Given the description of an element on the screen output the (x, y) to click on. 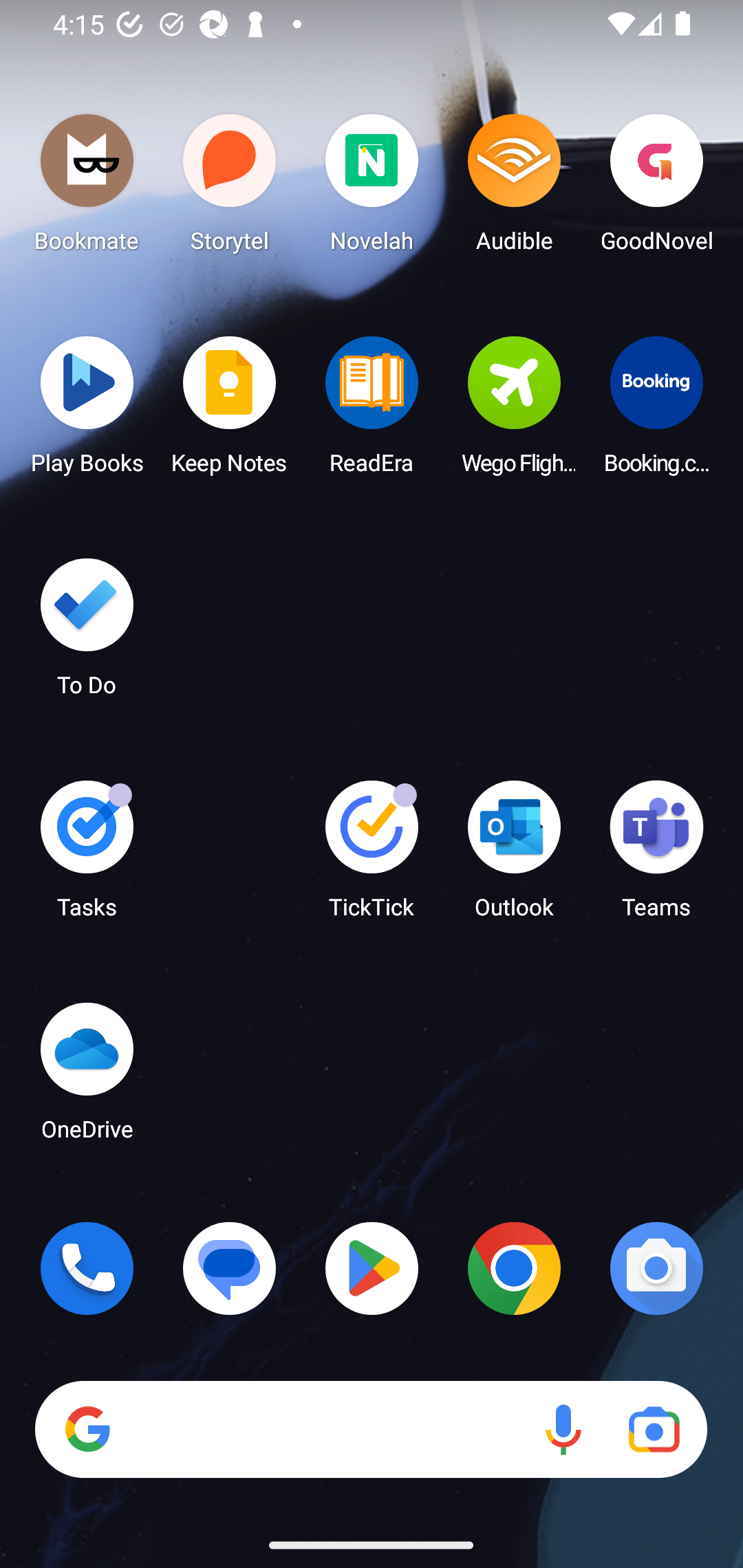
Bookmate (86, 188)
Storytel (229, 188)
Novelah (371, 188)
Audible (513, 188)
GoodNovel (656, 188)
Play Books (86, 410)
Keep Notes (229, 410)
ReadEra (371, 410)
Wego Flights & Hotels (513, 410)
Booking.com (656, 410)
To Do (86, 633)
Tasks Tasks has 1 notification (86, 854)
TickTick TickTick has 3 notifications (371, 854)
Outlook (513, 854)
Teams (656, 854)
OneDrive (86, 1076)
Phone (86, 1268)
Messages (229, 1268)
Play Store (371, 1268)
Chrome (513, 1268)
Camera (656, 1268)
Voice search (562, 1429)
Google Lens (653, 1429)
